Given the description of an element on the screen output the (x, y) to click on. 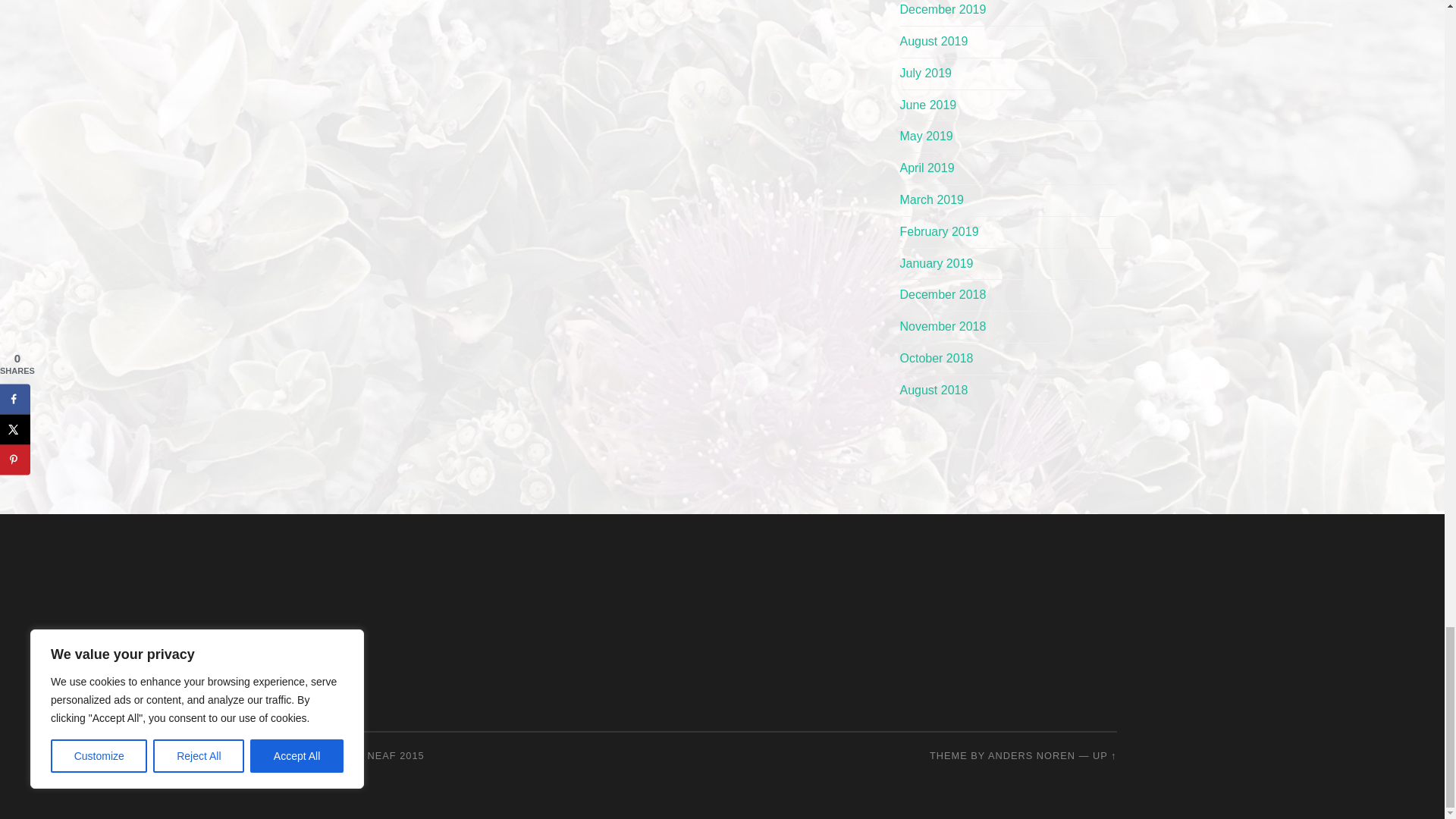
To the top (1104, 755)
